Given the description of an element on the screen output the (x, y) to click on. 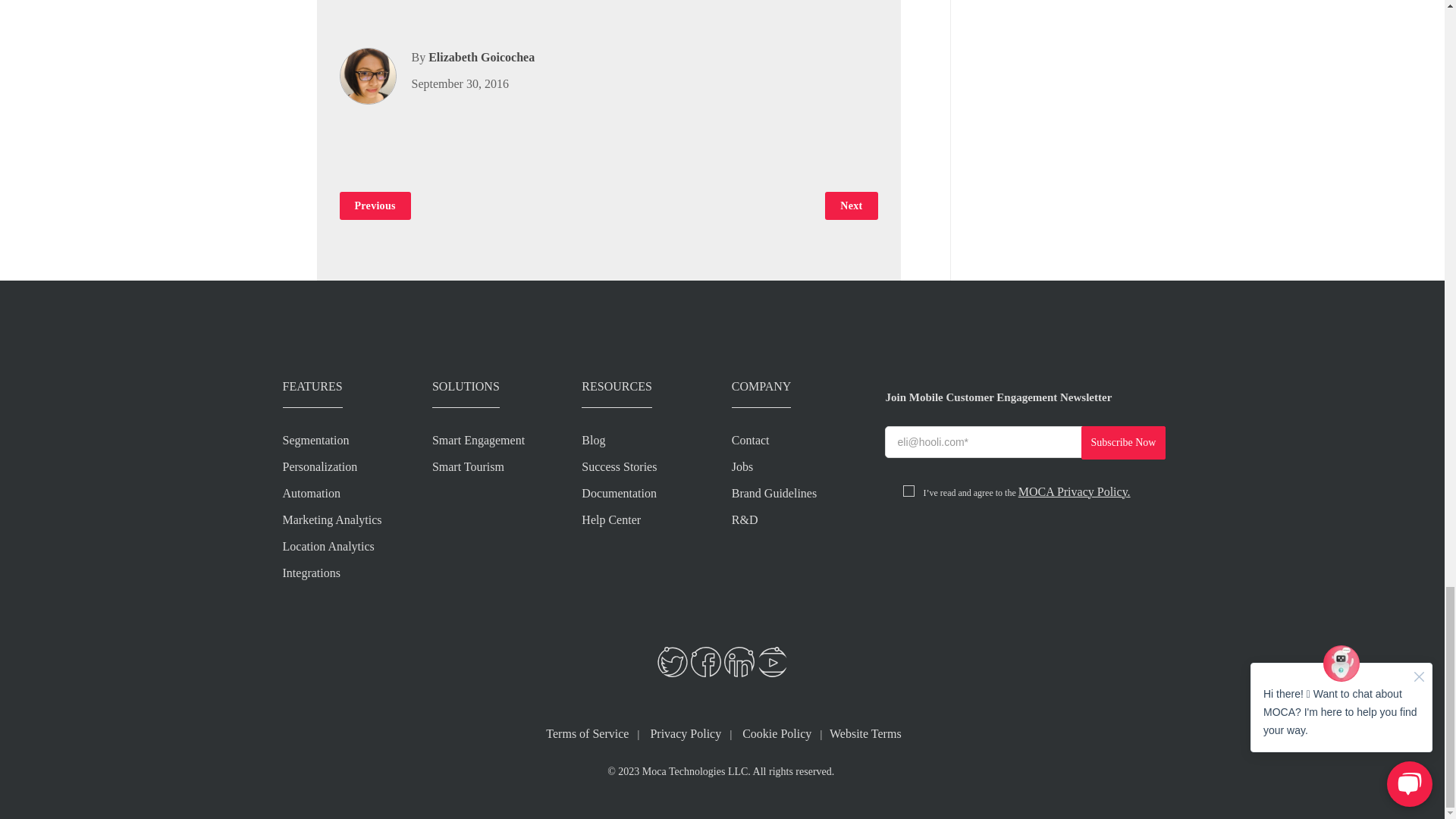
Next (851, 205)
twitter (671, 662)
Previous (374, 205)
Subscribe now (1123, 442)
facebook (705, 662)
linkedin (738, 662)
Elizabeth Goicochea (481, 56)
